Given the description of an element on the screen output the (x, y) to click on. 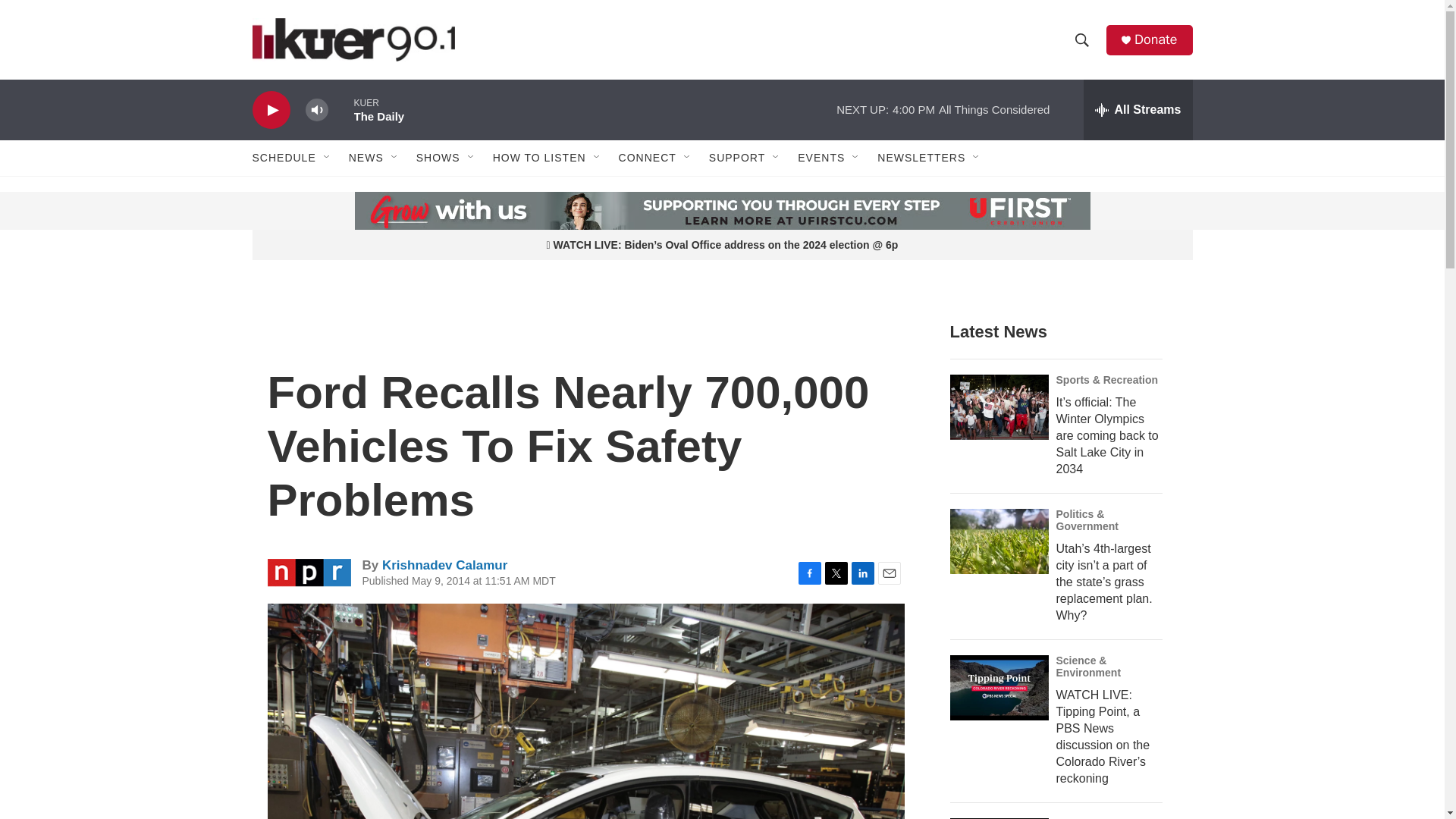
3rd party ad content (367, 210)
